Given the description of an element on the screen output the (x, y) to click on. 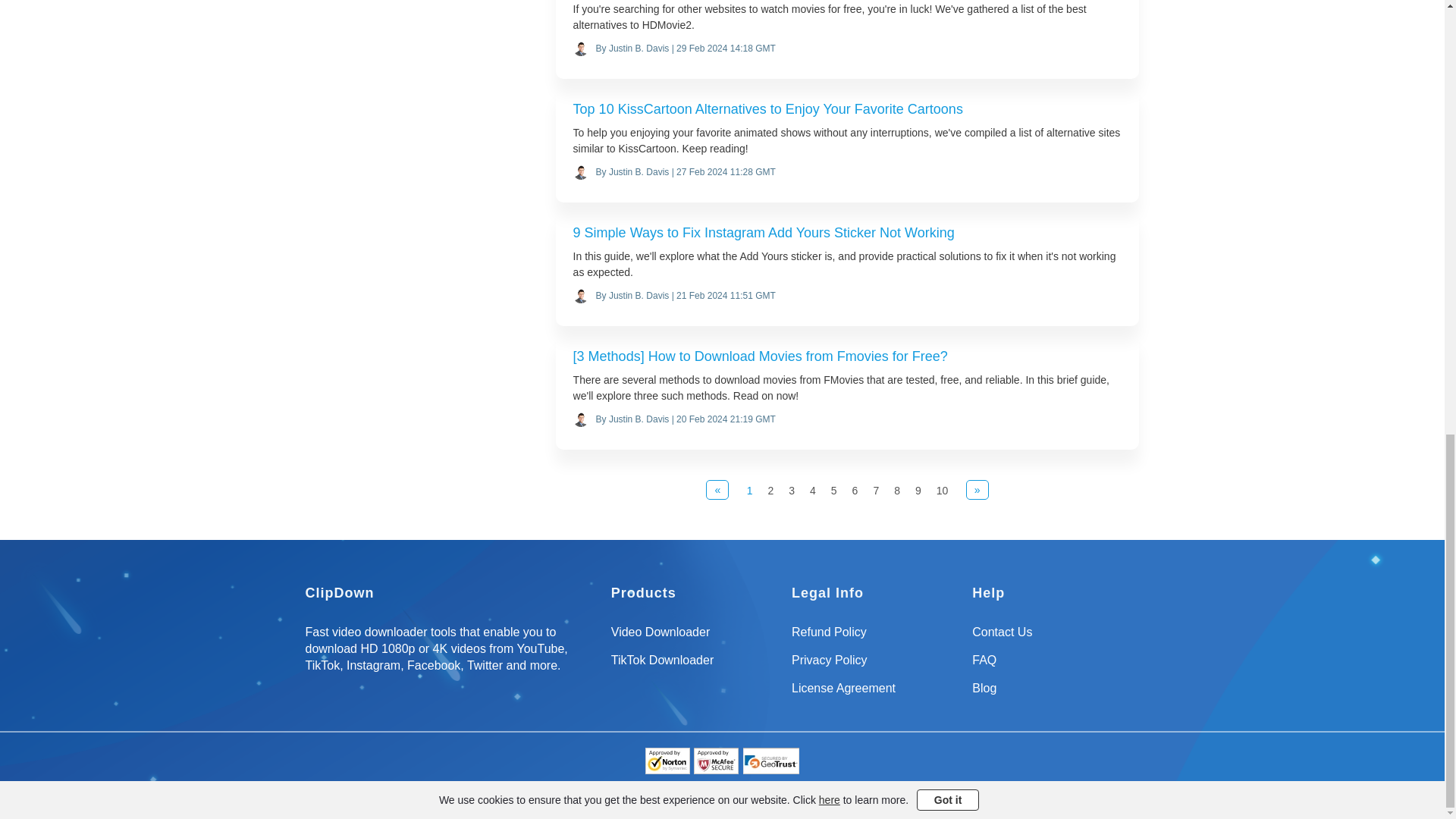
10 (942, 490)
Blog (1055, 694)
License Agreement (875, 694)
Video Downloader (694, 637)
TikTok Downloader (694, 665)
Privacy Policy (875, 665)
FAQ (1055, 665)
Contact Us (1055, 637)
Refund Policy (875, 637)
